Given the description of an element on the screen output the (x, y) to click on. 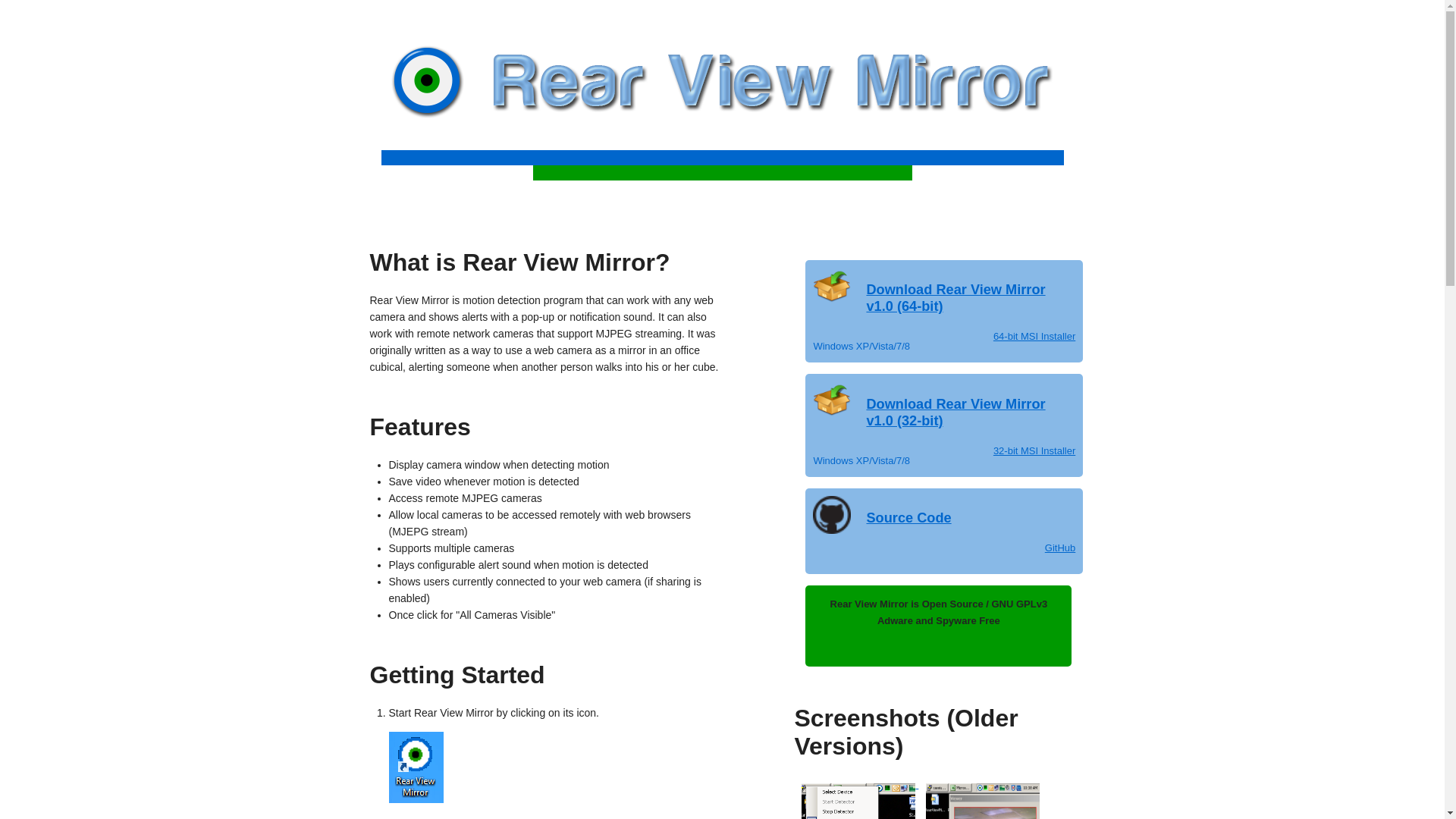
Viewer Window Element type: hover (978, 784)
Main Menu Element type: hover (855, 784)
Source Code
GitHub Element type: text (943, 532)
